Given the description of an element on the screen output the (x, y) to click on. 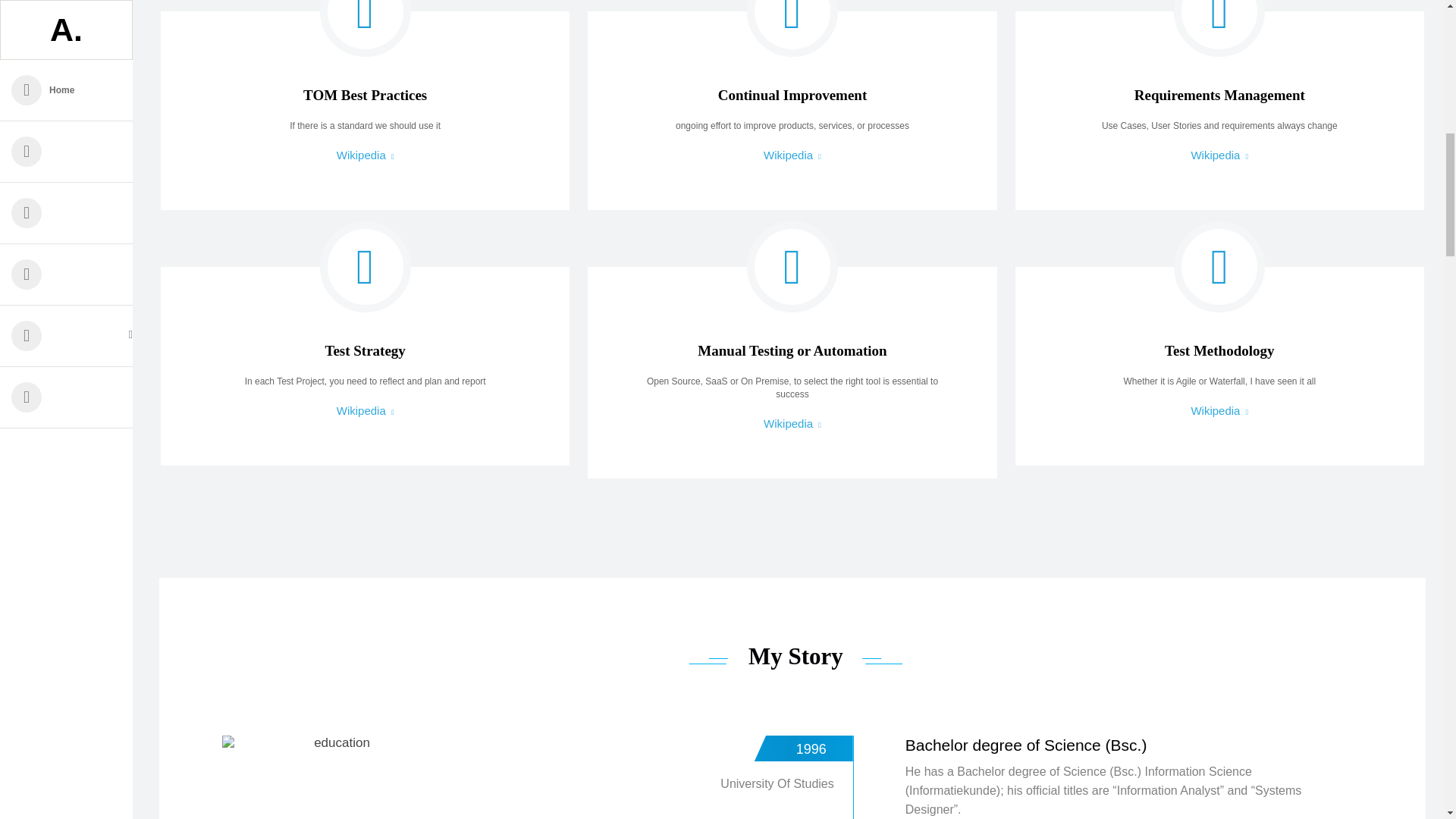
Wikipedia (365, 409)
Wikipedia (792, 423)
Wikipedia (1218, 154)
Wikipedia (792, 154)
Wikipedia (1218, 409)
Wikipedia (365, 154)
